Given the description of an element on the screen output the (x, y) to click on. 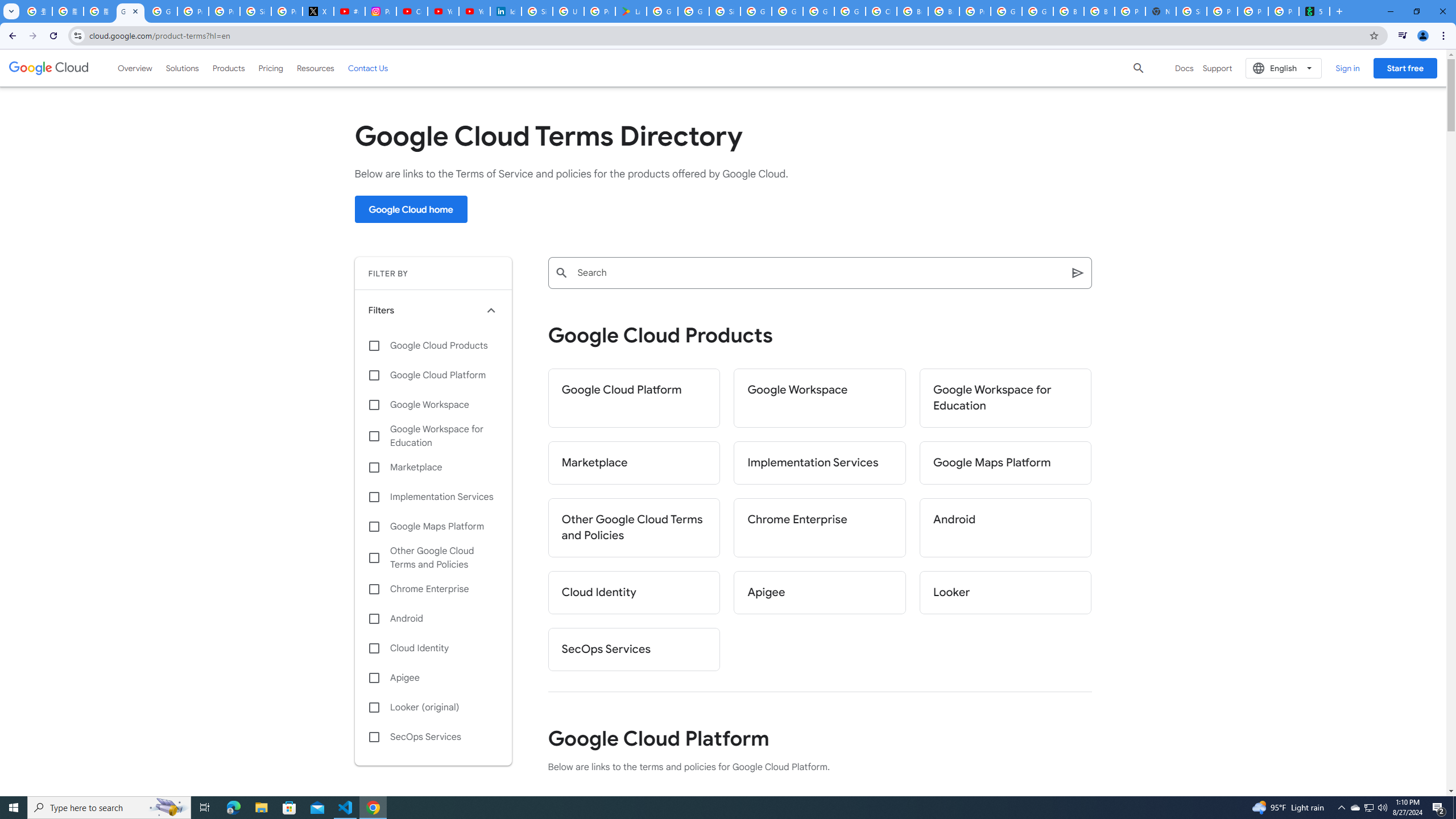
Apigee (819, 592)
Android (432, 618)
Google Workspace - Specific Terms (693, 11)
Google Cloud Terms Directory | Google Cloud (130, 11)
Sign in - Google Accounts (1190, 11)
Browse Chrome as a guest - Computer - Google Chrome Help (912, 11)
Google Maps Platform (432, 526)
